Given the description of an element on the screen output the (x, y) to click on. 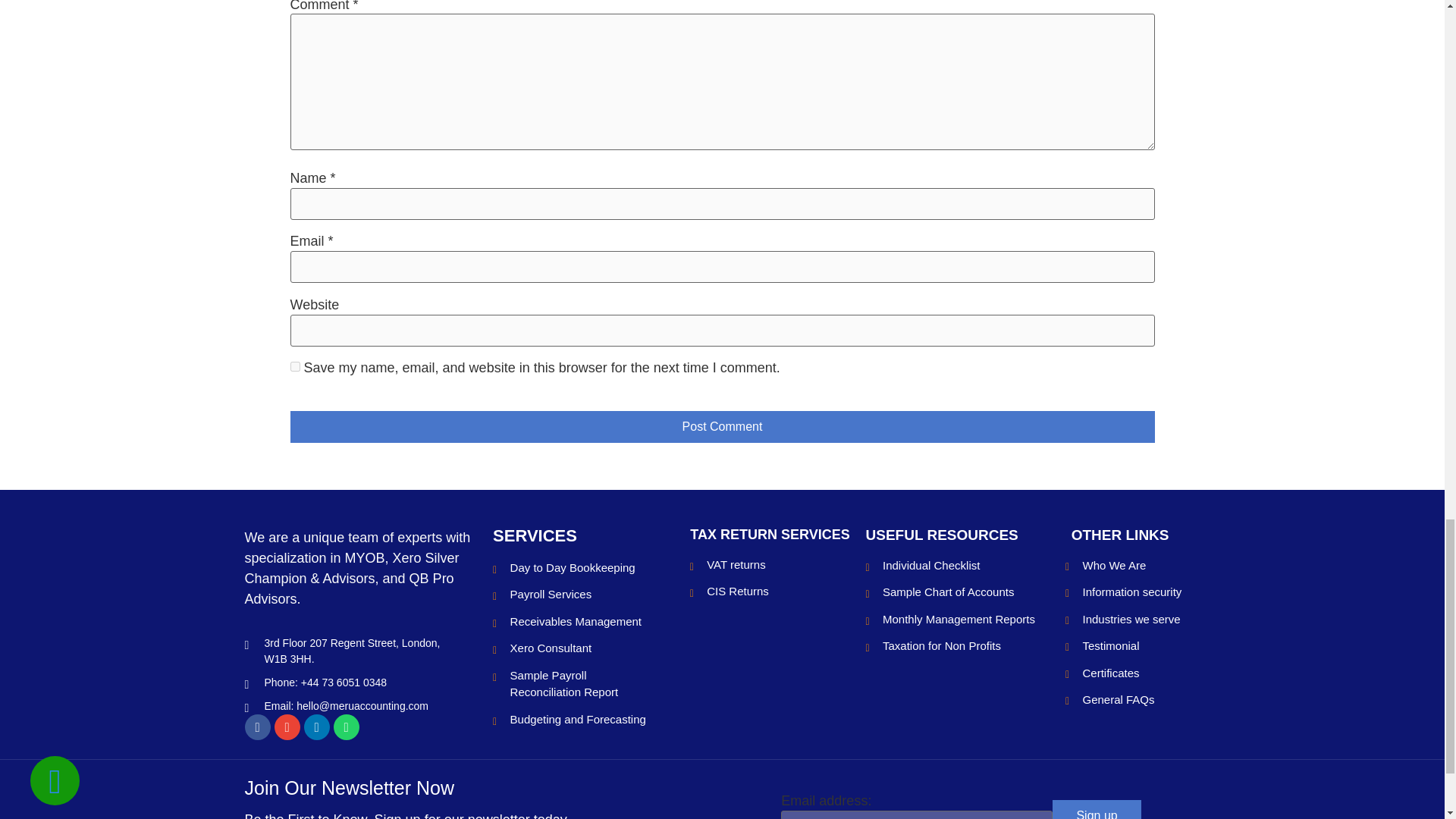
Post Comment (721, 427)
yes (294, 366)
Sign up (1096, 809)
